Given the description of an element on the screen output the (x, y) to click on. 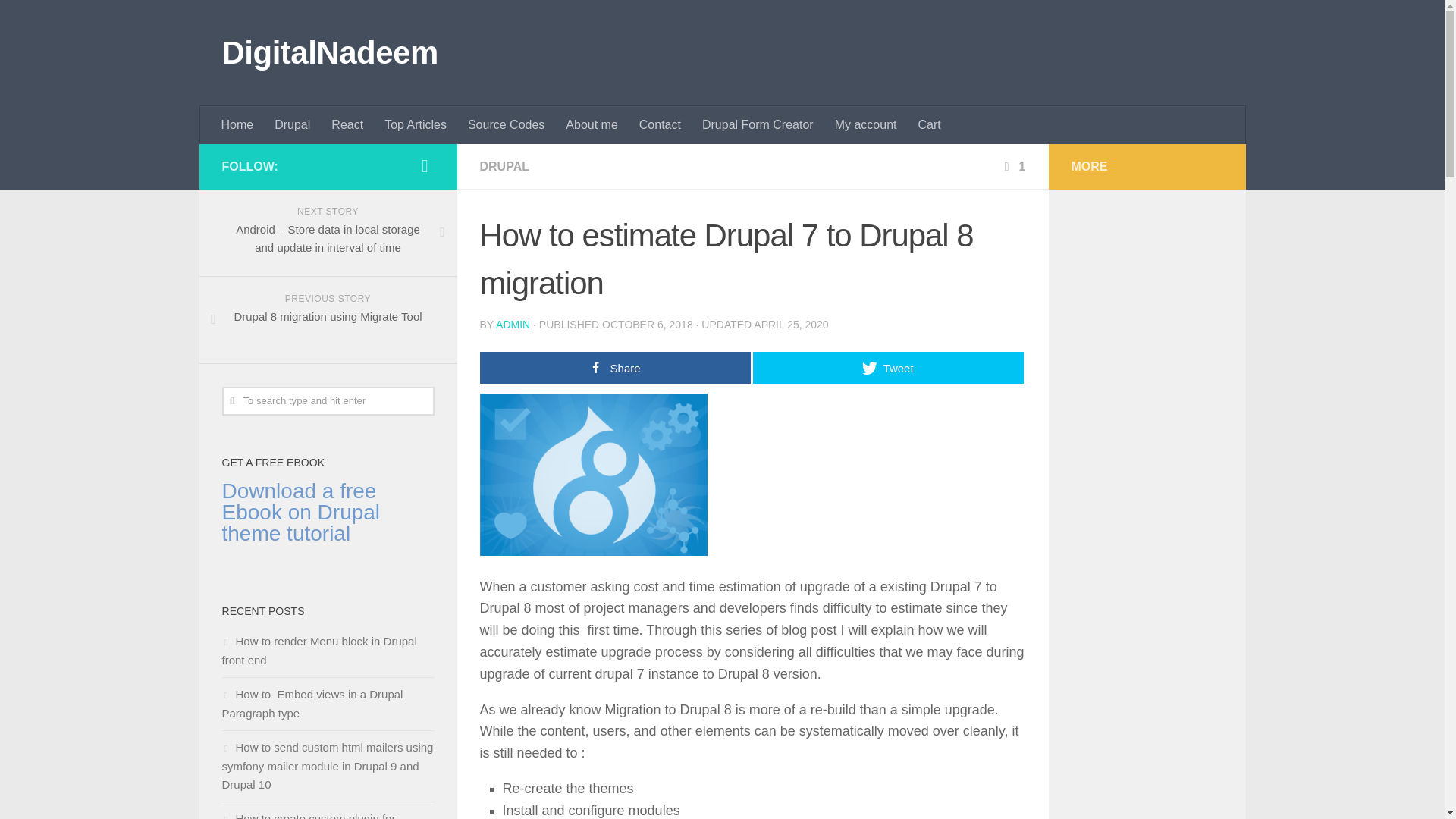
DigitalNadeem (329, 53)
Tweet (887, 368)
DRUPAL (503, 165)
To search type and hit enter (327, 400)
Follow us on Linkedin-in (423, 166)
Contact (659, 125)
React (347, 125)
1 (1013, 165)
About me (590, 125)
Posts by admin (512, 324)
Drupal Form Creator (757, 125)
Cart (928, 125)
To search type and hit enter (327, 400)
Source Codes (505, 125)
Home (237, 125)
